Given the description of an element on the screen output the (x, y) to click on. 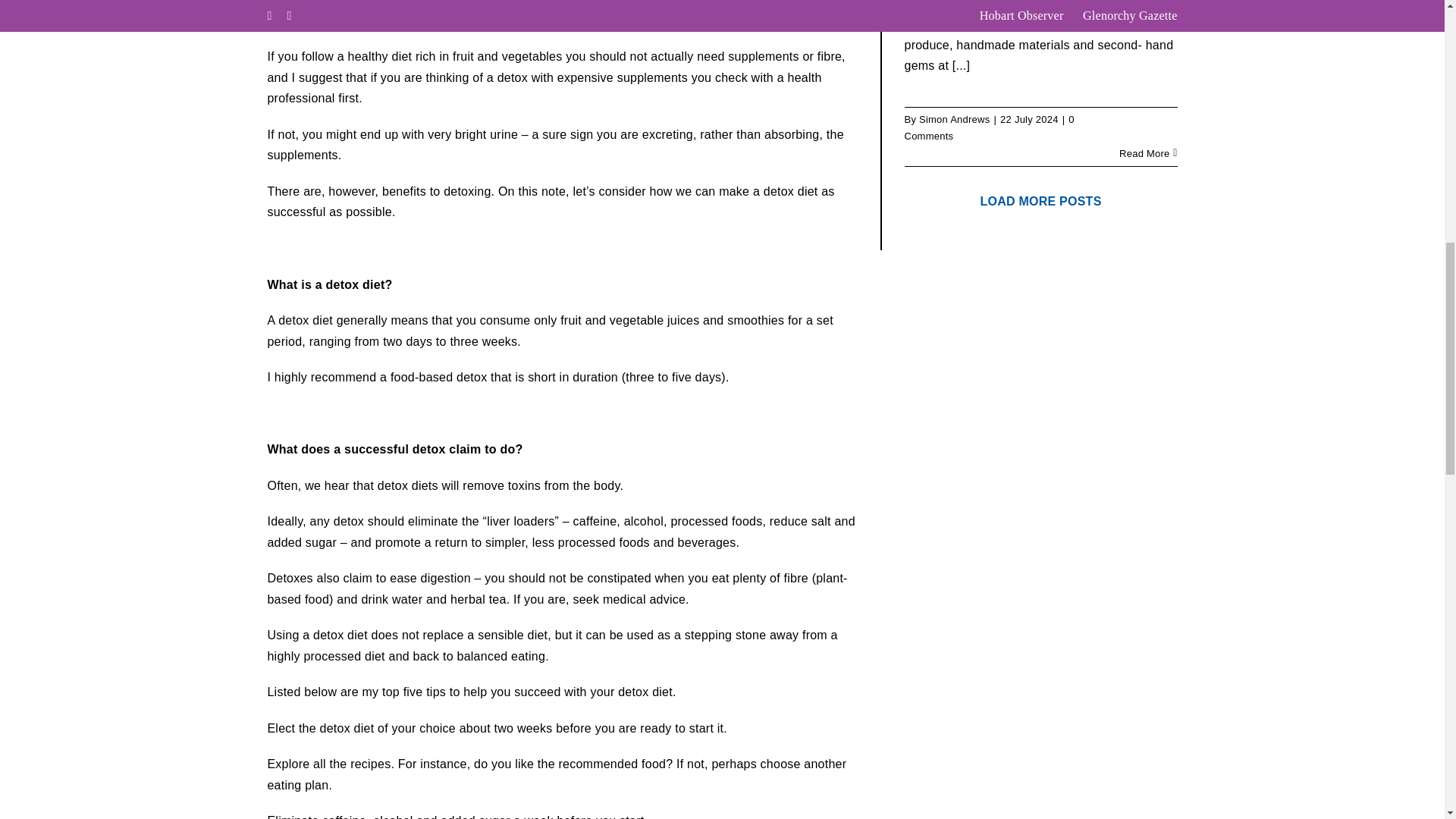
Posts by Simon Andrews (954, 119)
